Given the description of an element on the screen output the (x, y) to click on. 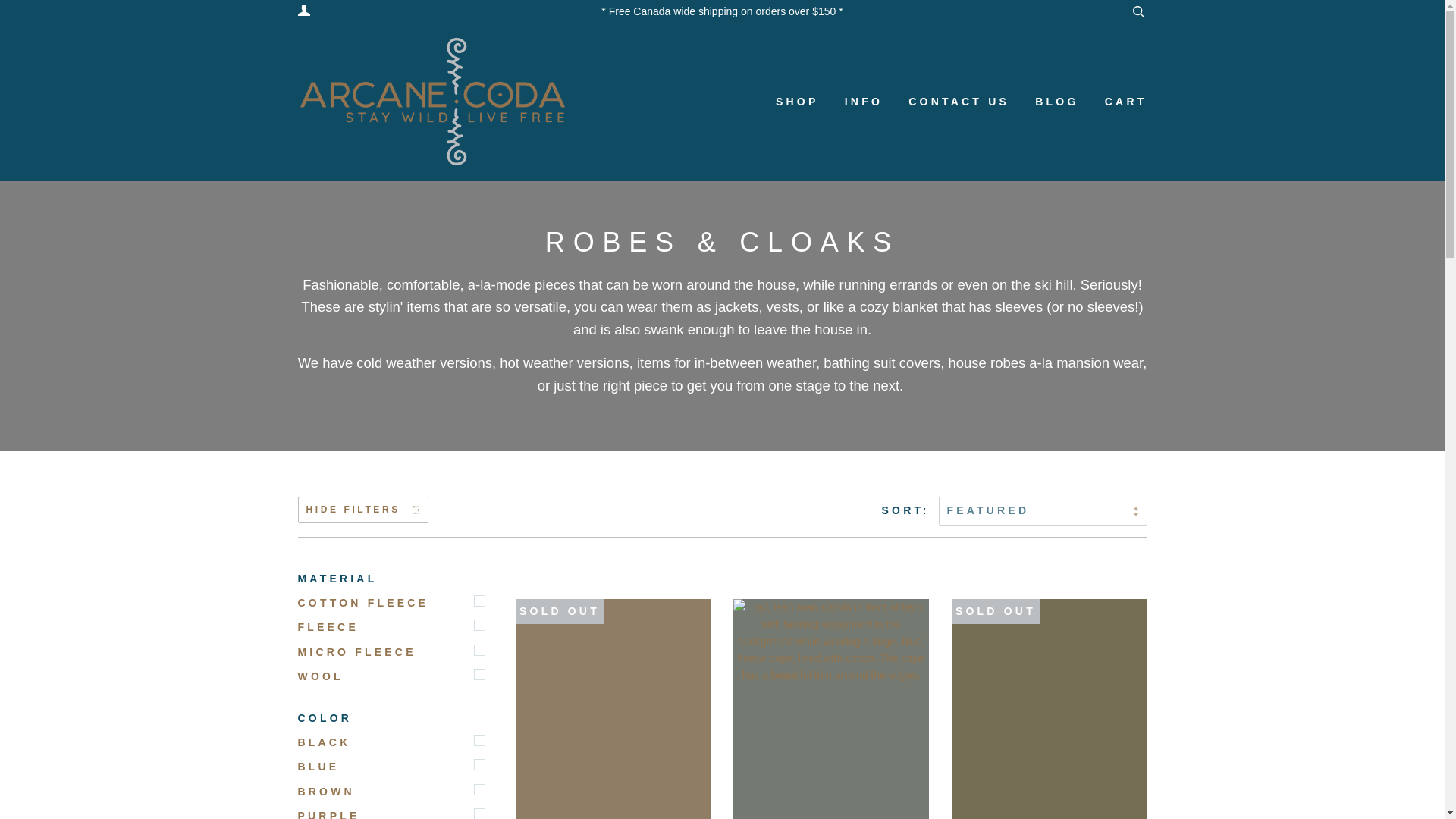
Search (1137, 11)
CONTACT US (947, 101)
BLOG (1044, 101)
INFO (852, 101)
SHOP (793, 101)
CART (1114, 101)
